Given the description of an element on the screen output the (x, y) to click on. 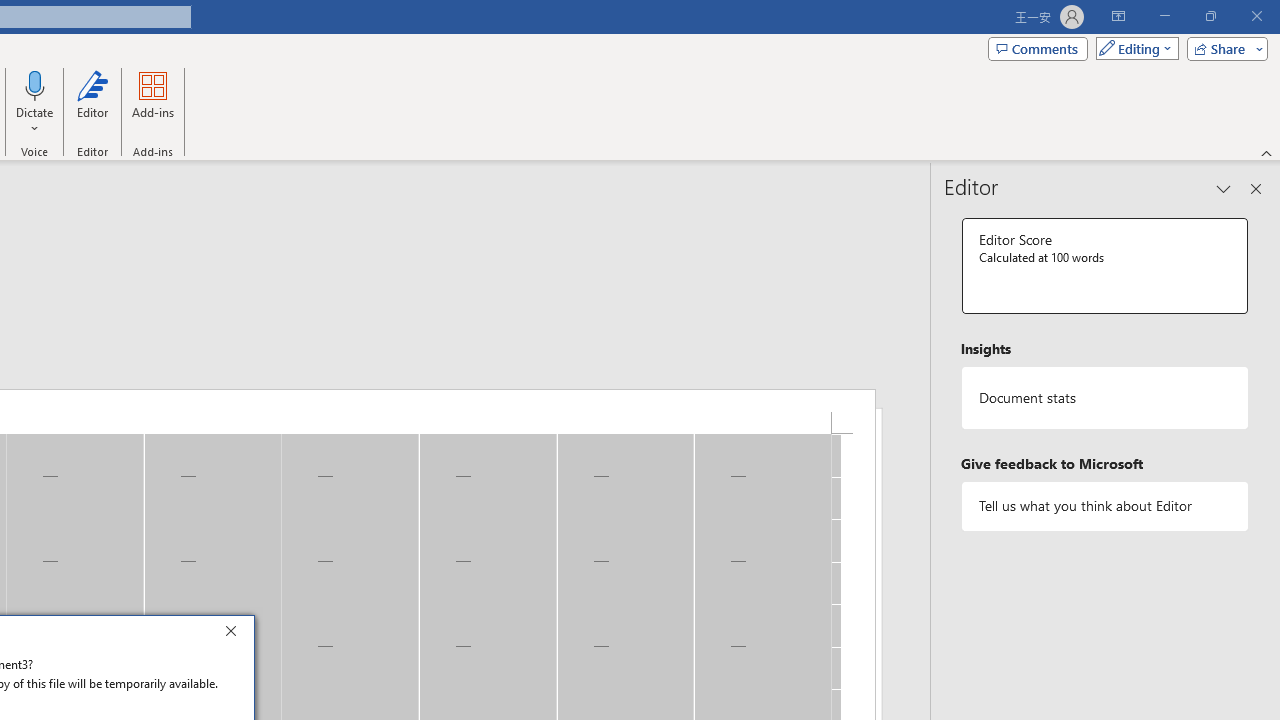
Close (236, 633)
Share (1223, 48)
Restore Down (1210, 16)
